Given the description of an element on the screen output the (x, y) to click on. 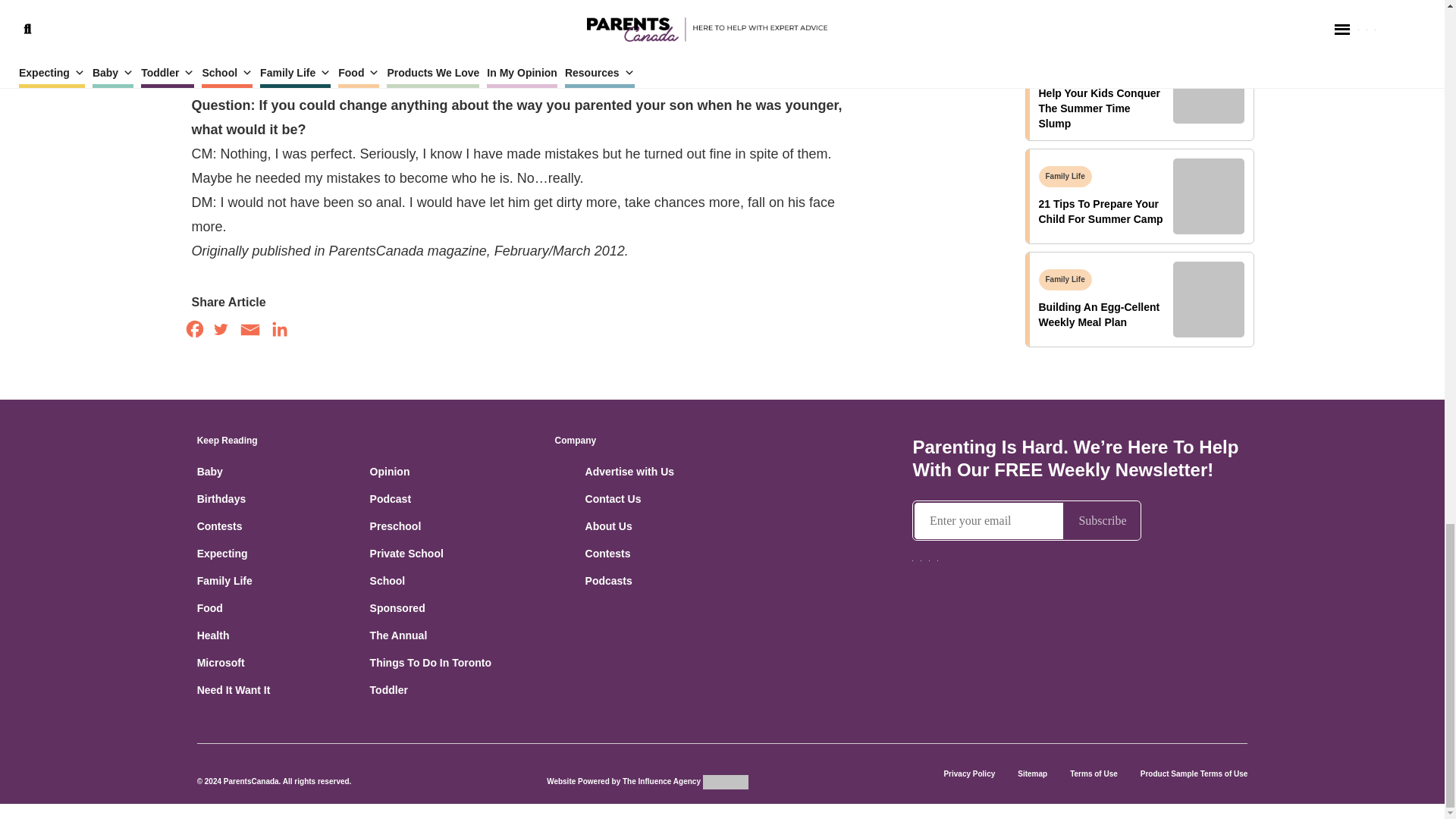
Email (249, 330)
Twitter (220, 328)
Facebook (194, 328)
Linkedin (279, 328)
